Given the description of an element on the screen output the (x, y) to click on. 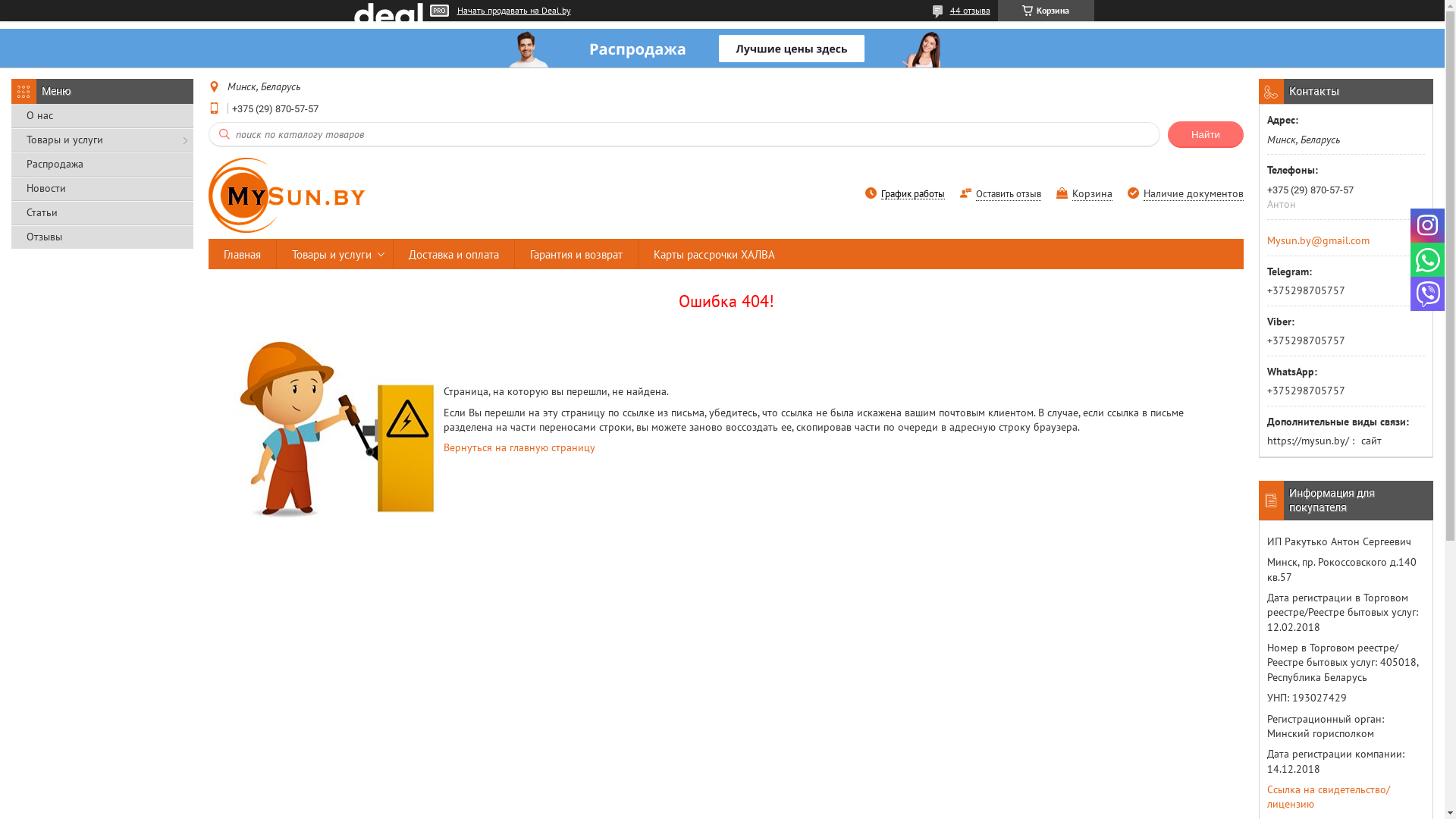
Mysun.by Element type: hover (287, 194)
Mysun.by@gmail.com Element type: text (1318, 239)
